Given the description of an element on the screen output the (x, y) to click on. 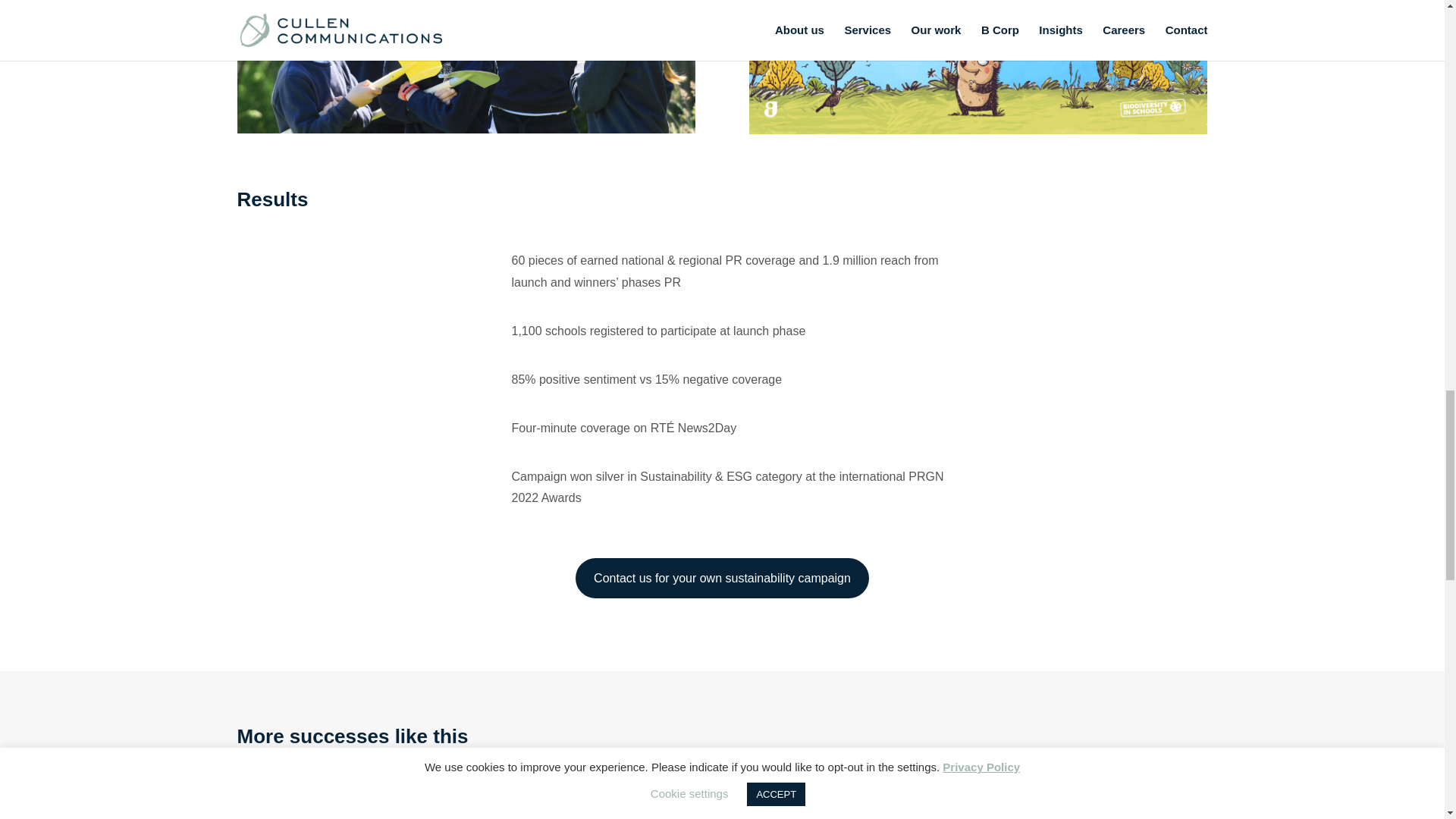
Contact us for your own sustainability campaign (722, 577)
Applegreen: BioDive Primary Schools Programme (600, 789)
Launch of Lyreco New Premises in Ireland (357, 789)
